Given the description of an element on the screen output the (x, y) to click on. 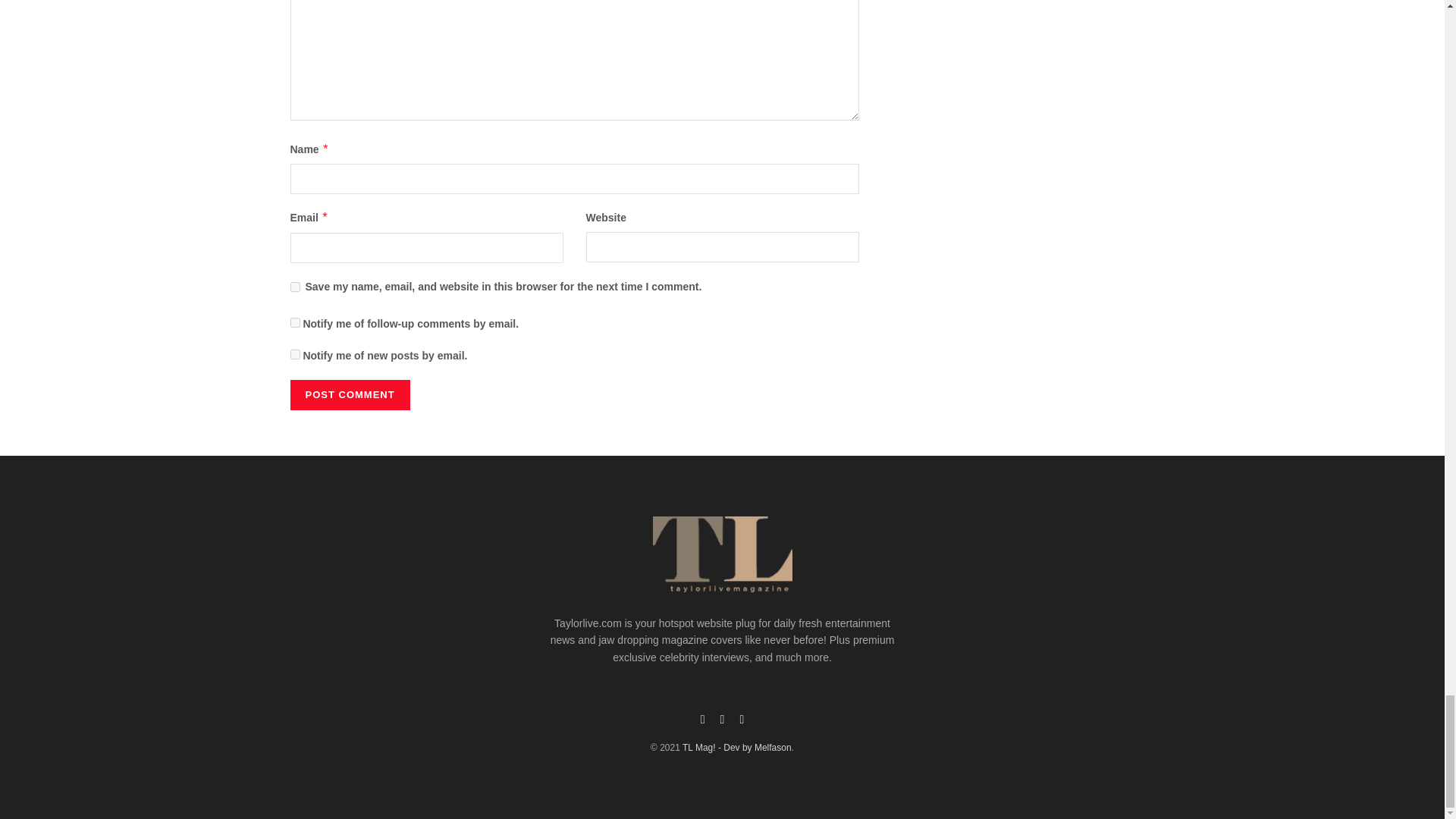
subscribe (294, 354)
Melfason Interactive (754, 747)
Post Comment (349, 395)
subscribe (294, 322)
TaylorLive Magazine (699, 747)
yes (294, 286)
